Given the description of an element on the screen output the (x, y) to click on. 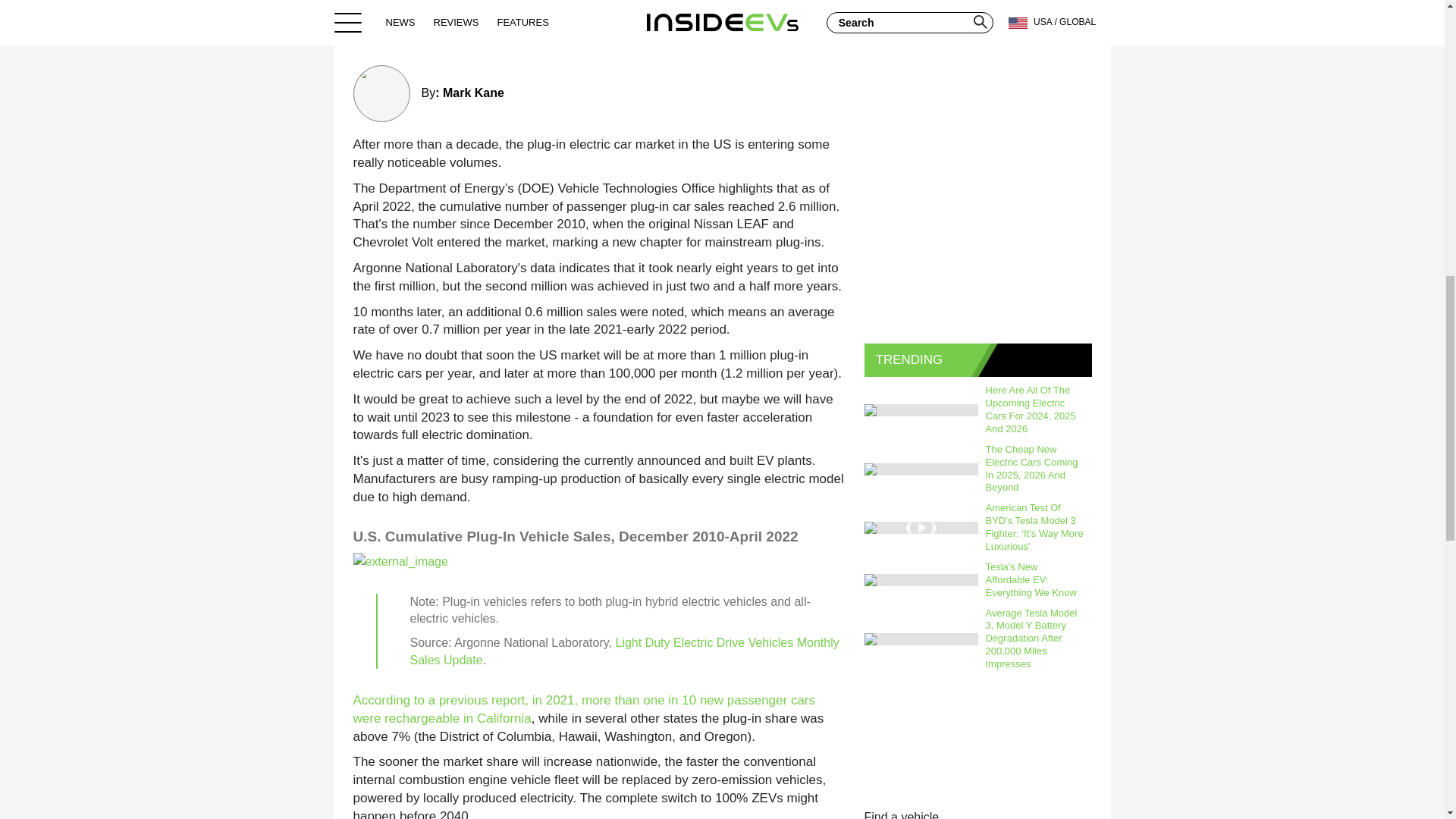
Mark Kane (472, 92)
The Cheap New Electric Cars Coming In 2025, 2026 And Beyond (1035, 469)
Light Duty Electric Drive Vehicles Monthly Sales Update (623, 650)
